Given the description of an element on the screen output the (x, y) to click on. 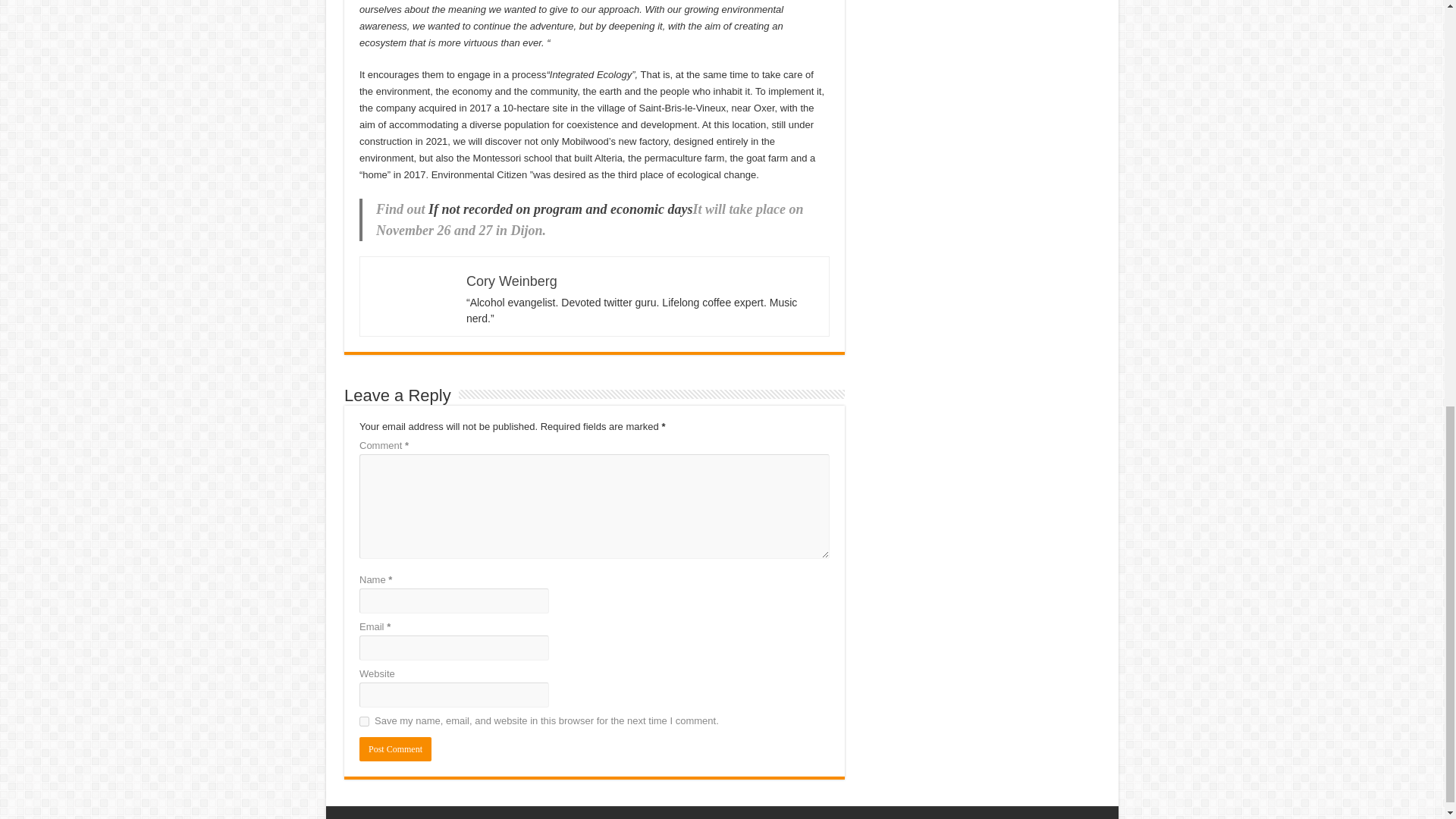
Post Comment (394, 749)
Post Comment (394, 749)
Cory Weinberg (511, 281)
yes (364, 721)
If not recorded on program and economic days (560, 209)
